Given the description of an element on the screen output the (x, y) to click on. 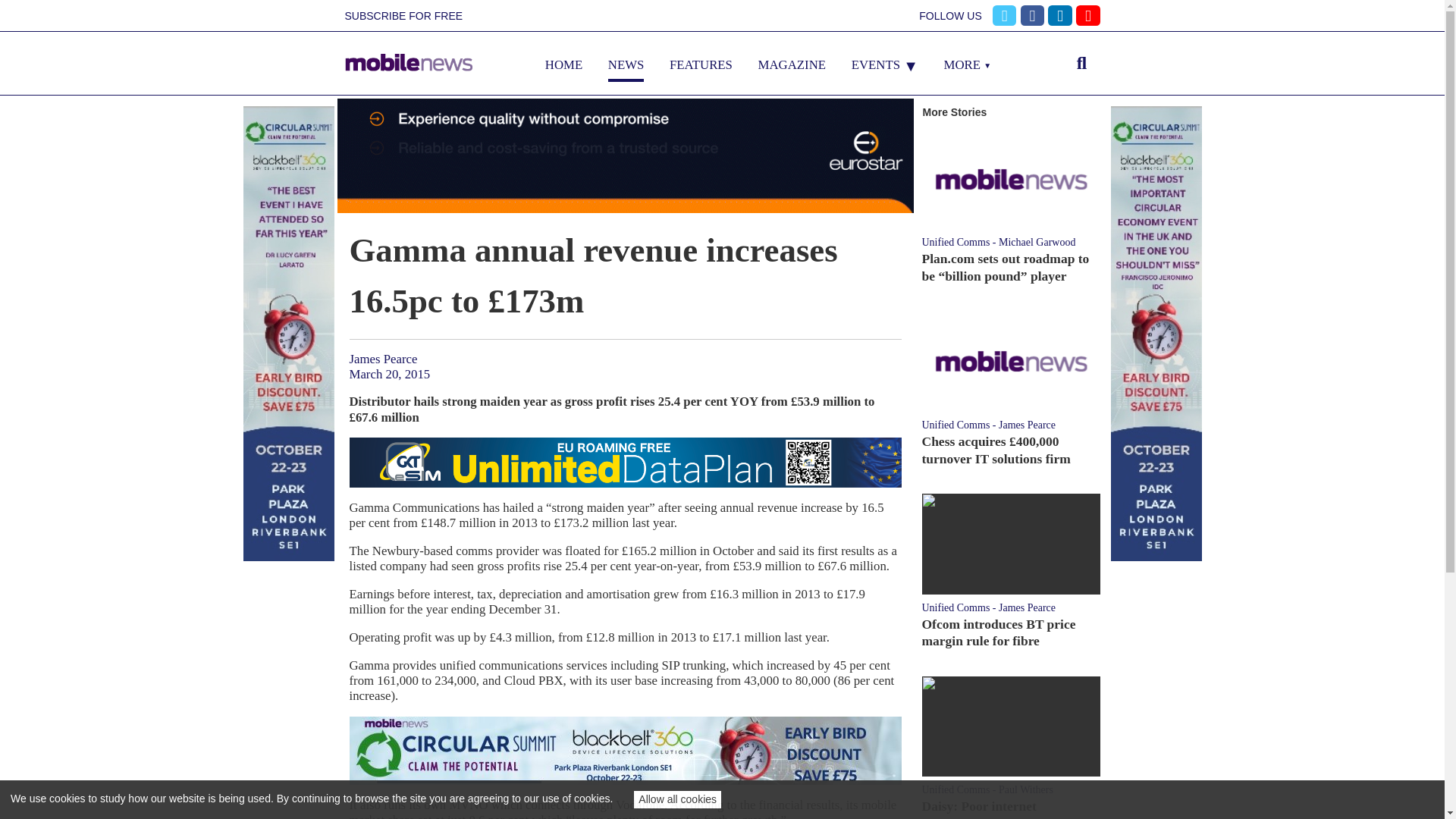
NEWS (626, 64)
SUBSCRIBE FOR FREE (403, 15)
FEATURES (700, 64)
MAGAZINE (792, 64)
HOME (563, 64)
